Given the description of an element on the screen output the (x, y) to click on. 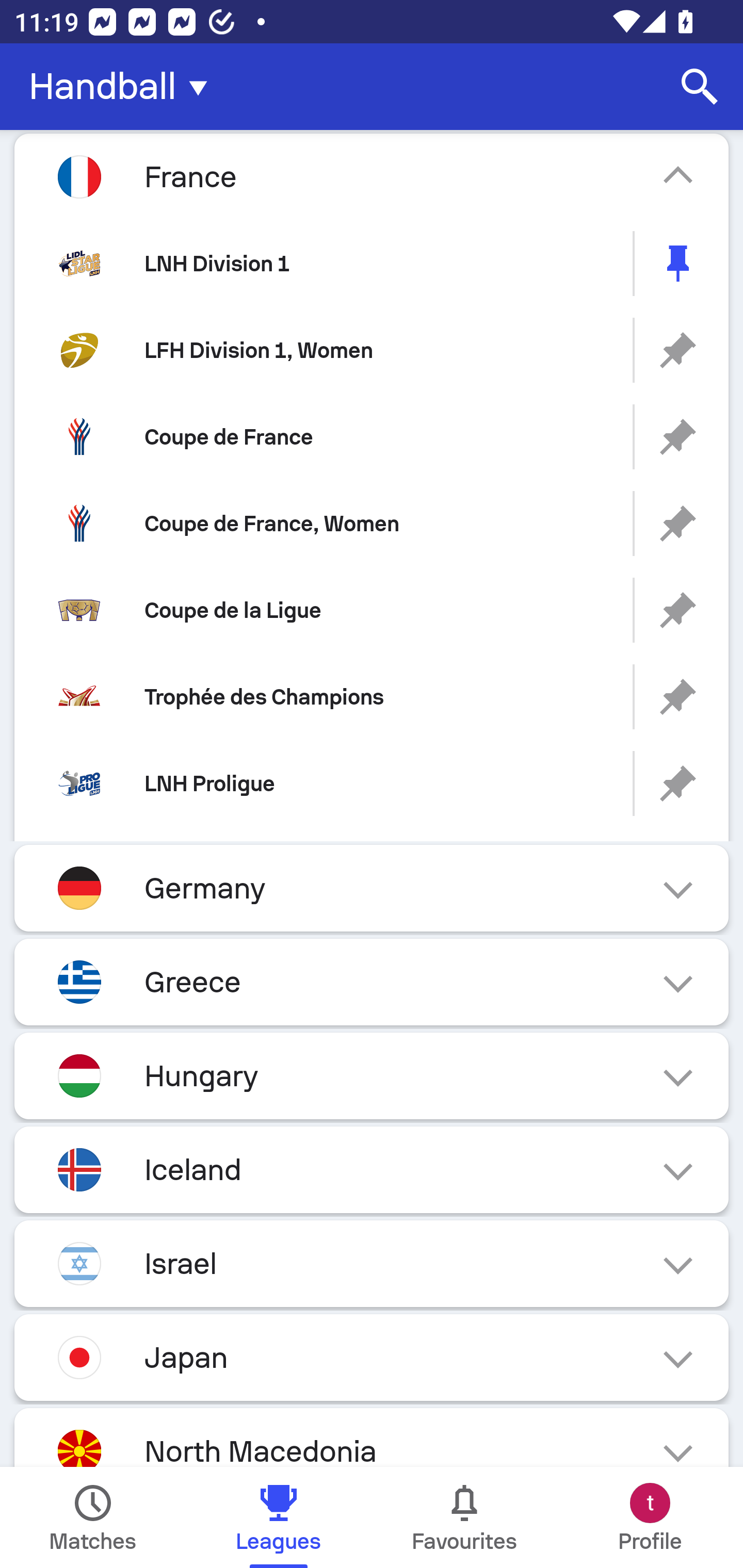
Handball (124, 86)
Search (699, 86)
France (371, 176)
LNH Division 1 (371, 263)
LFH Division 1, Women (371, 350)
Coupe de France (371, 436)
Coupe de France, Women (371, 523)
Coupe de la Ligue (371, 610)
Trophée des Champions (371, 696)
LNH Proligue (371, 783)
Germany (371, 888)
Greece (371, 982)
Hungary (371, 1076)
Iceland (371, 1169)
Israel (371, 1263)
Japan (371, 1356)
North Macedonia (371, 1437)
Matches (92, 1517)
Favourites (464, 1517)
Profile (650, 1517)
